Given the description of an element on the screen output the (x, y) to click on. 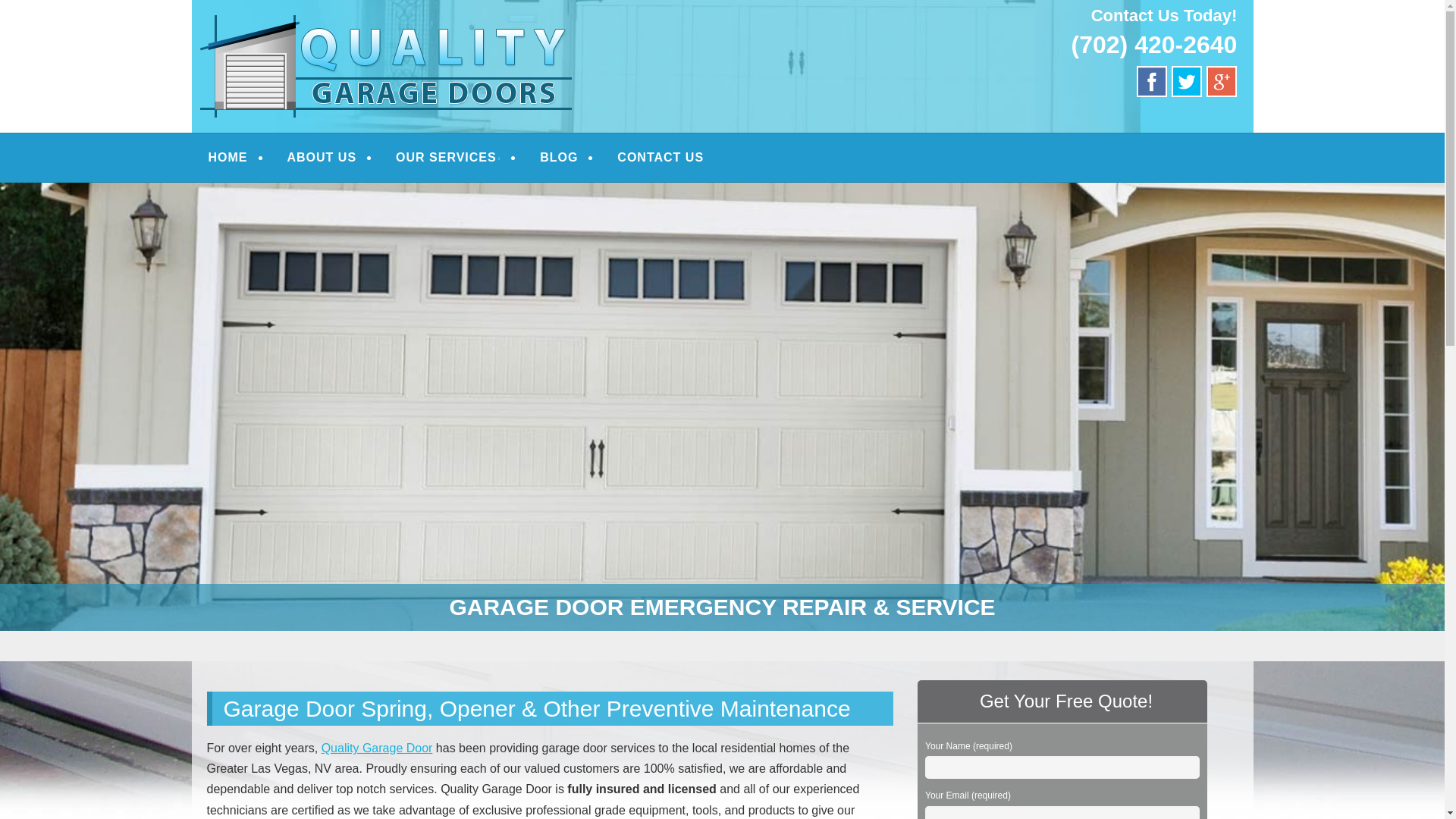
HOME (227, 157)
BLOG (558, 157)
QUALITY GARAGE DOORS (381, 32)
ABOUT US (321, 157)
CONTACT US (660, 157)
Quality Garage Door (376, 748)
OUR SERVICES (448, 157)
Quality Garage Doors (381, 32)
